Given the description of an element on the screen output the (x, y) to click on. 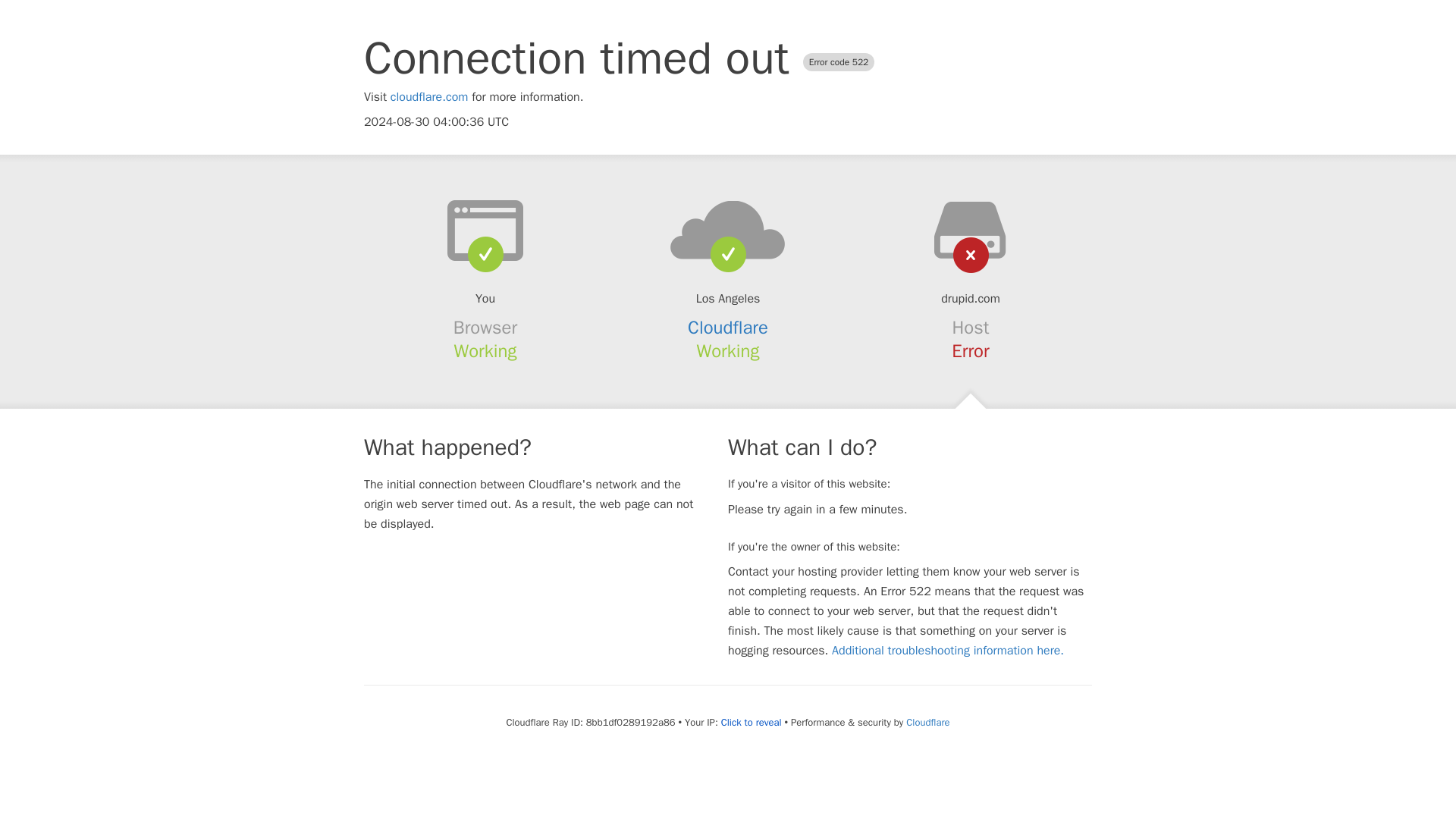
Cloudflare (927, 721)
Click to reveal (750, 722)
Additional troubleshooting information here. (947, 650)
cloudflare.com (429, 96)
Cloudflare (727, 327)
